Given the description of an element on the screen output the (x, y) to click on. 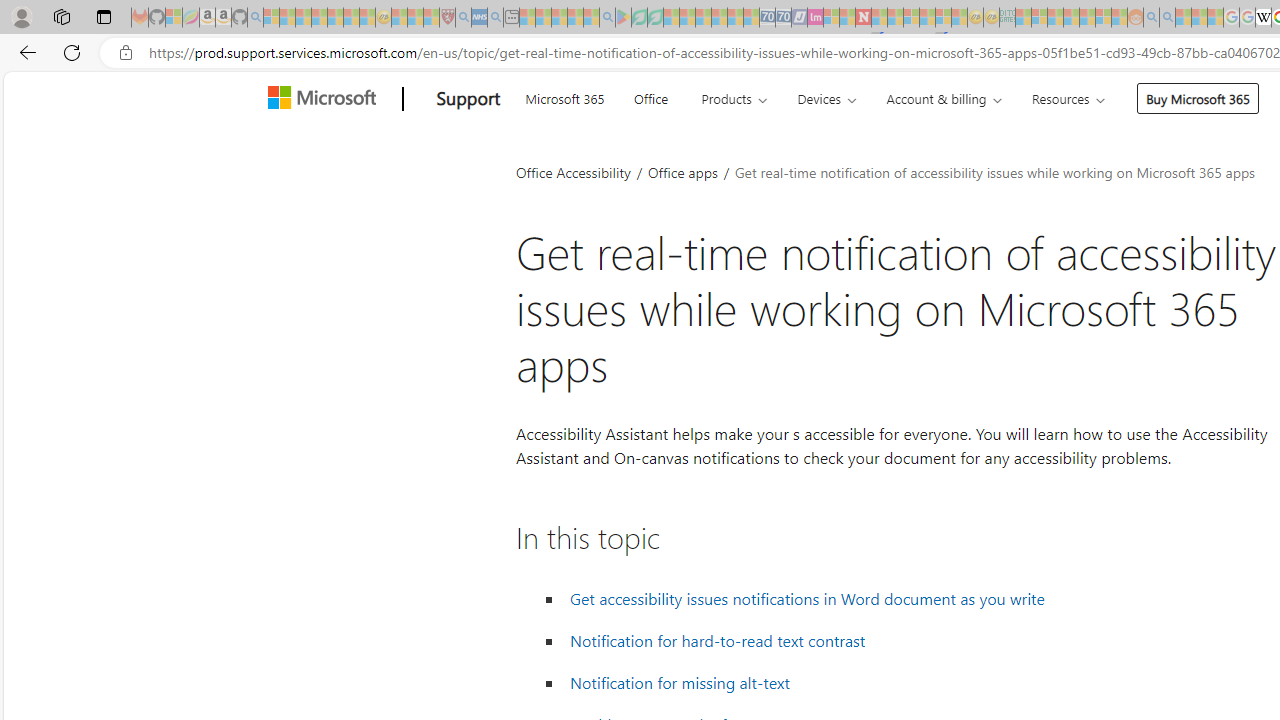
Office (650, 96)
utah sues federal government - Search - Sleeping (495, 17)
